Given the description of an element on the screen output the (x, y) to click on. 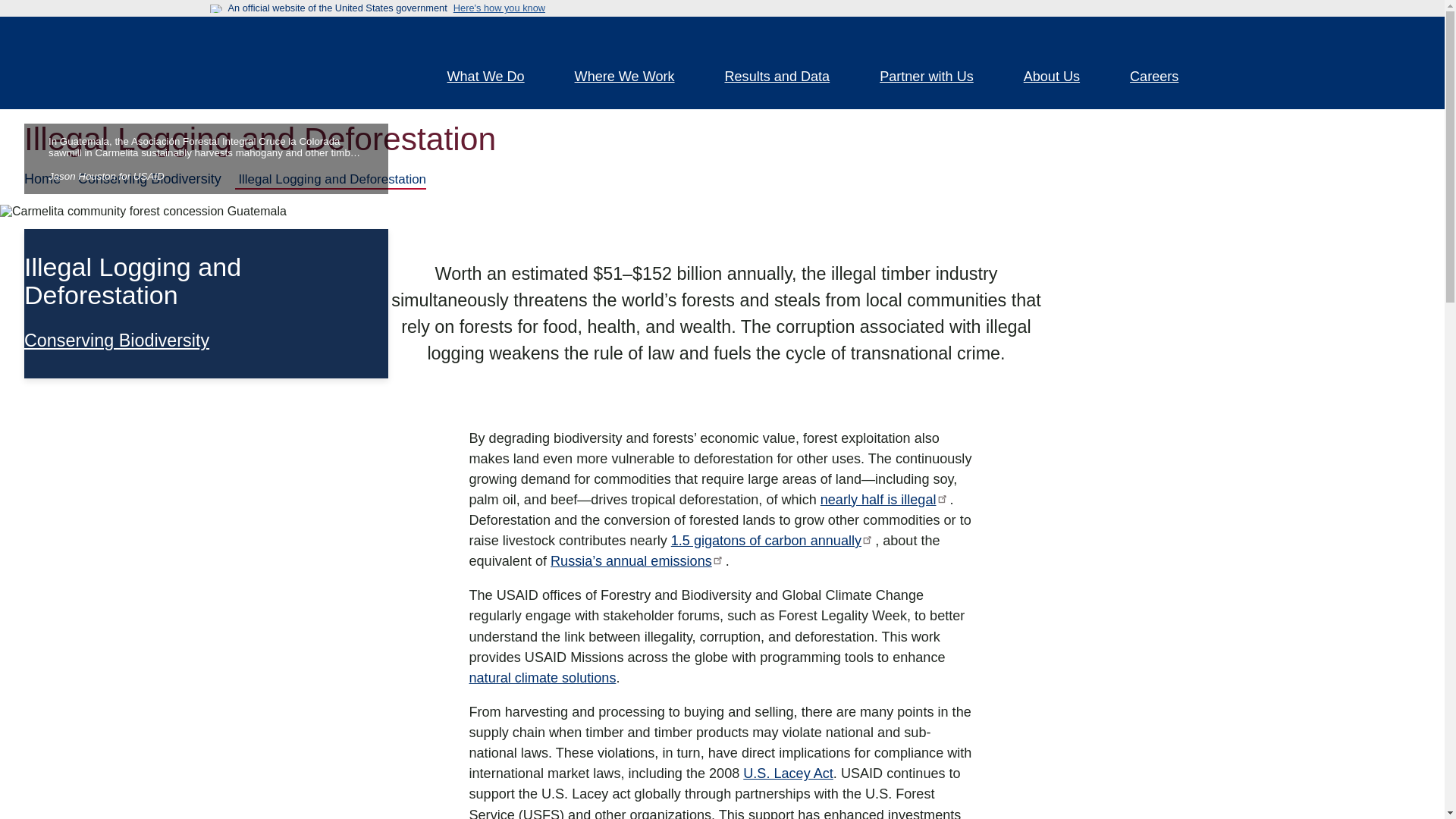
About Us (1060, 78)
Results and Data (786, 78)
Partner with Us (935, 78)
Home (304, 62)
What We Do (493, 78)
Careers (1162, 78)
Where We Work (634, 78)
Conserving Biodiversity (116, 340)
Here's how you know (498, 8)
Biodiversity (116, 340)
